Given the description of an element on the screen output the (x, y) to click on. 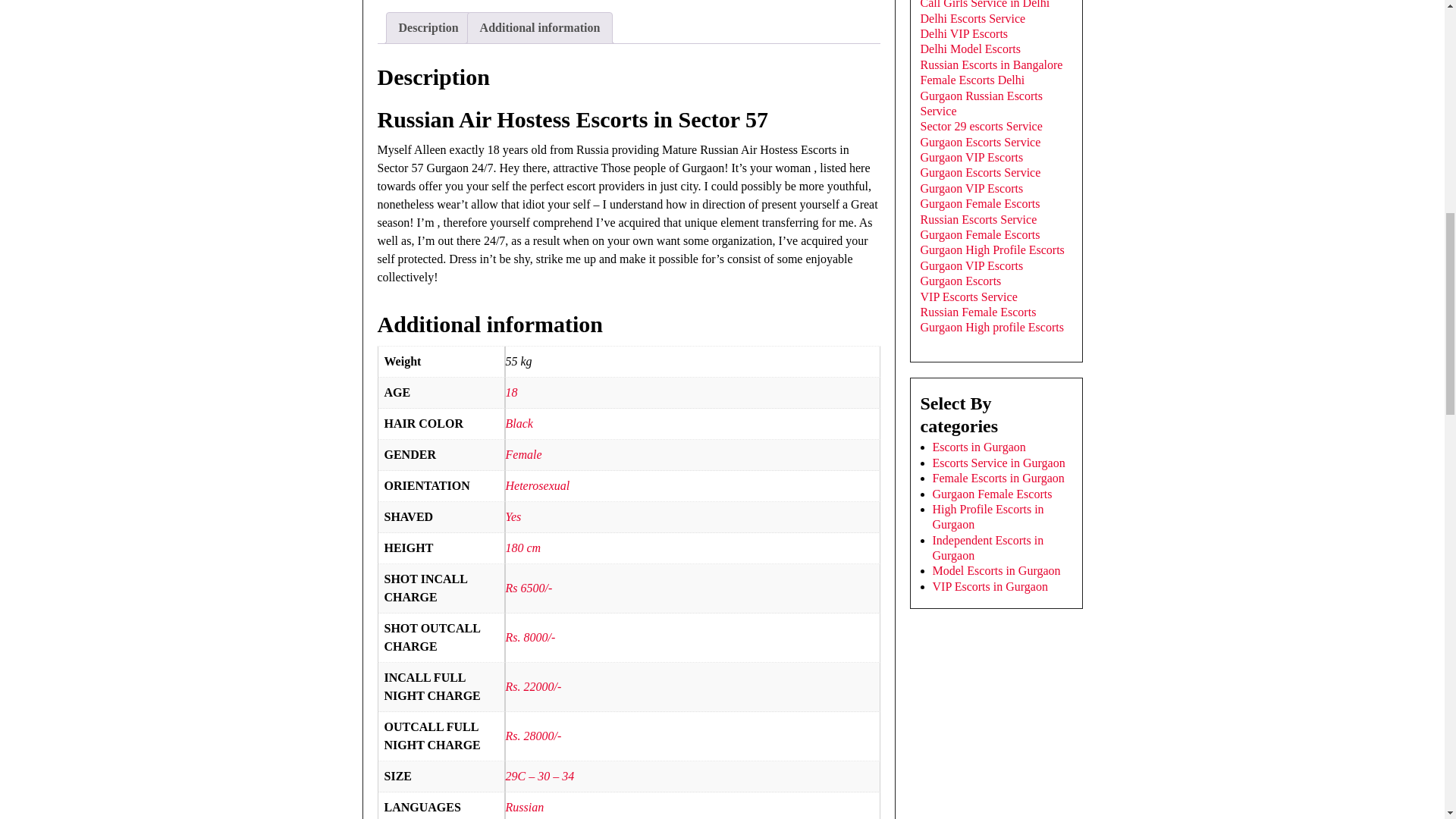
Additional information (539, 28)
180 cm (522, 547)
Female (523, 454)
Black (518, 422)
Yes (513, 516)
Russian (524, 807)
Description (428, 28)
18 (510, 391)
Heterosexual (537, 485)
